Given the description of an element on the screen output the (x, y) to click on. 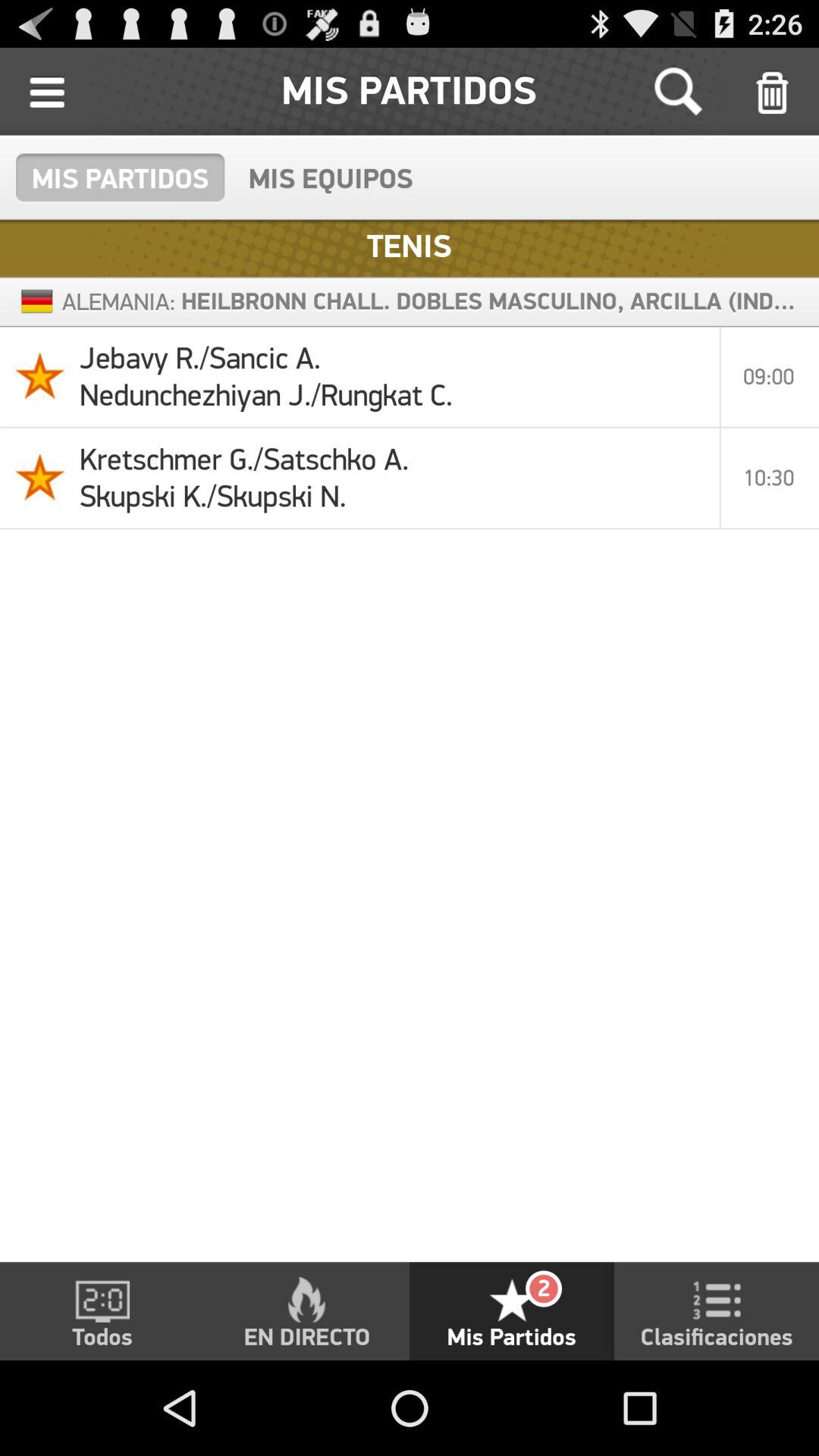
click on the image which is just beside alemania (36, 301)
